Given the description of an element on the screen output the (x, y) to click on. 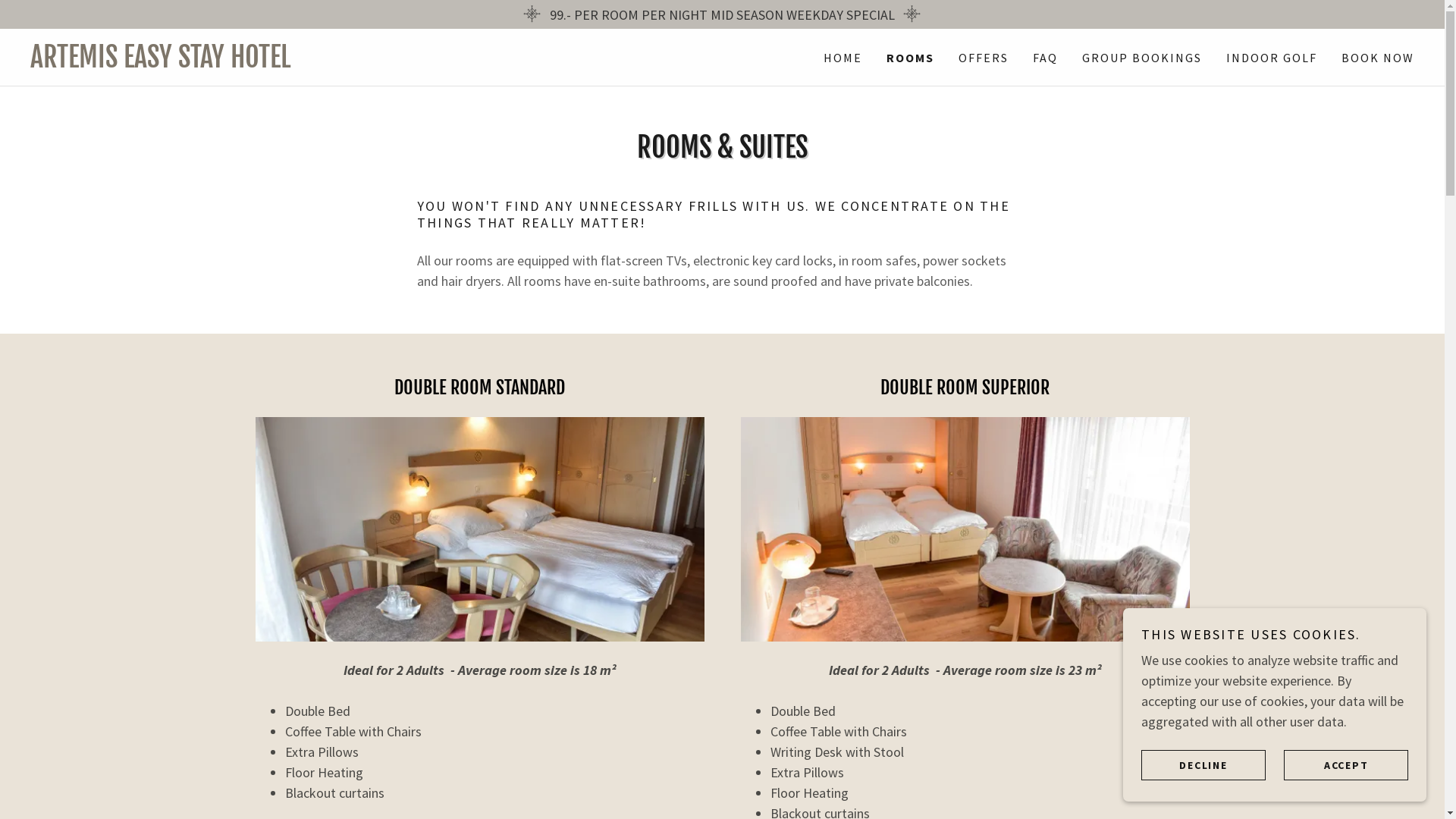
OFFERS Element type: text (983, 57)
ARTEMIS EASY STAY HOTEL Element type: text (376, 62)
HOME Element type: text (842, 57)
INDOOR GOLF Element type: text (1271, 57)
FAQ Element type: text (1045, 57)
BOOK NOW Element type: text (1377, 57)
DECLINE Element type: text (1203, 764)
99.- PER ROOM PER NIGHT MID SEASON WEEKDAY SPECIAL Element type: text (722, 14)
GROUP BOOKINGS Element type: text (1141, 57)
ACCEPT Element type: text (1345, 764)
ROOMS Element type: text (910, 57)
